Given the description of an element on the screen output the (x, y) to click on. 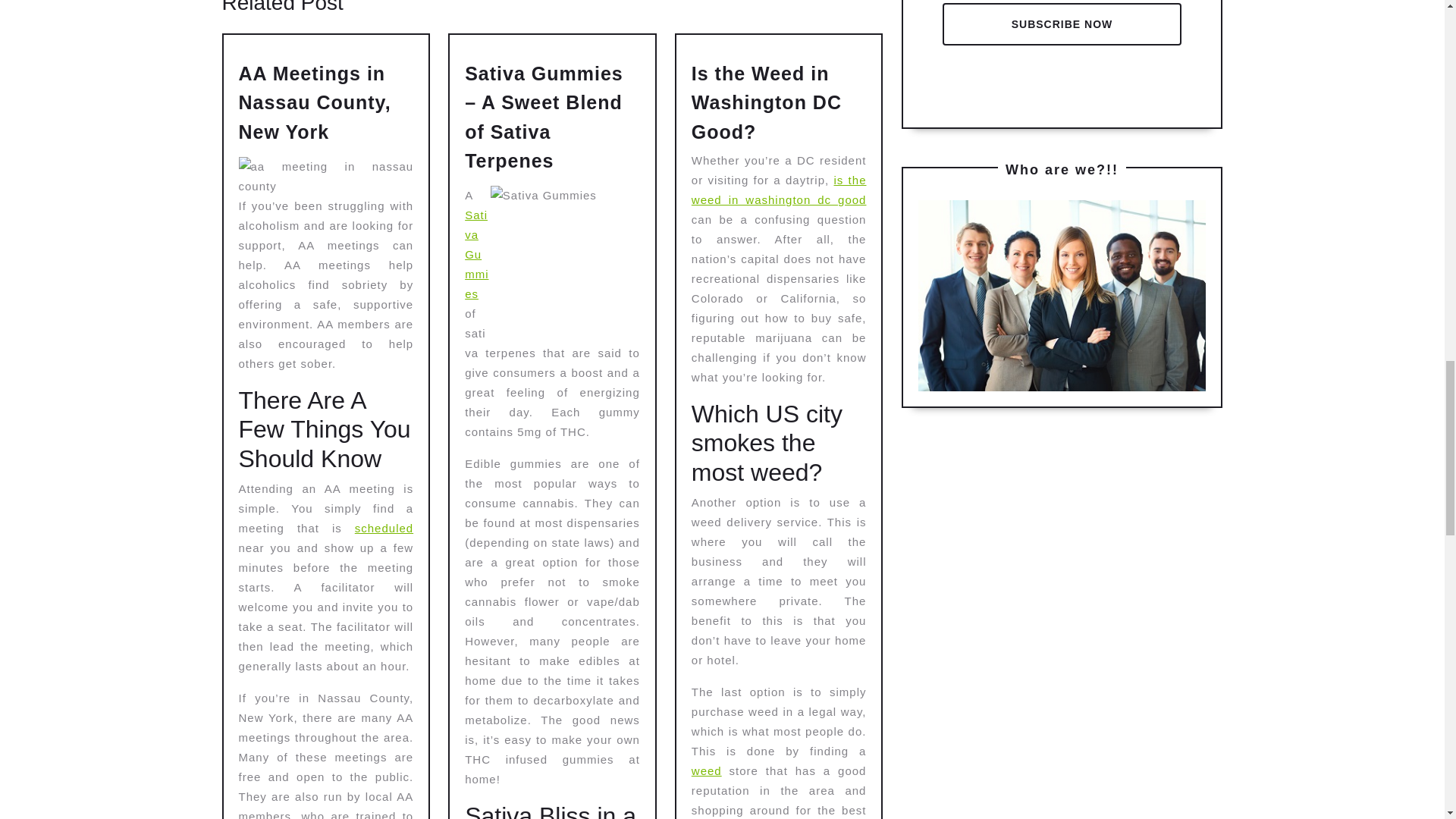
scheduled (384, 527)
weed (706, 770)
SUBSCRIBE NOW (1061, 24)
is the weed in washington dc good (778, 189)
